Given the description of an element on the screen output the (x, y) to click on. 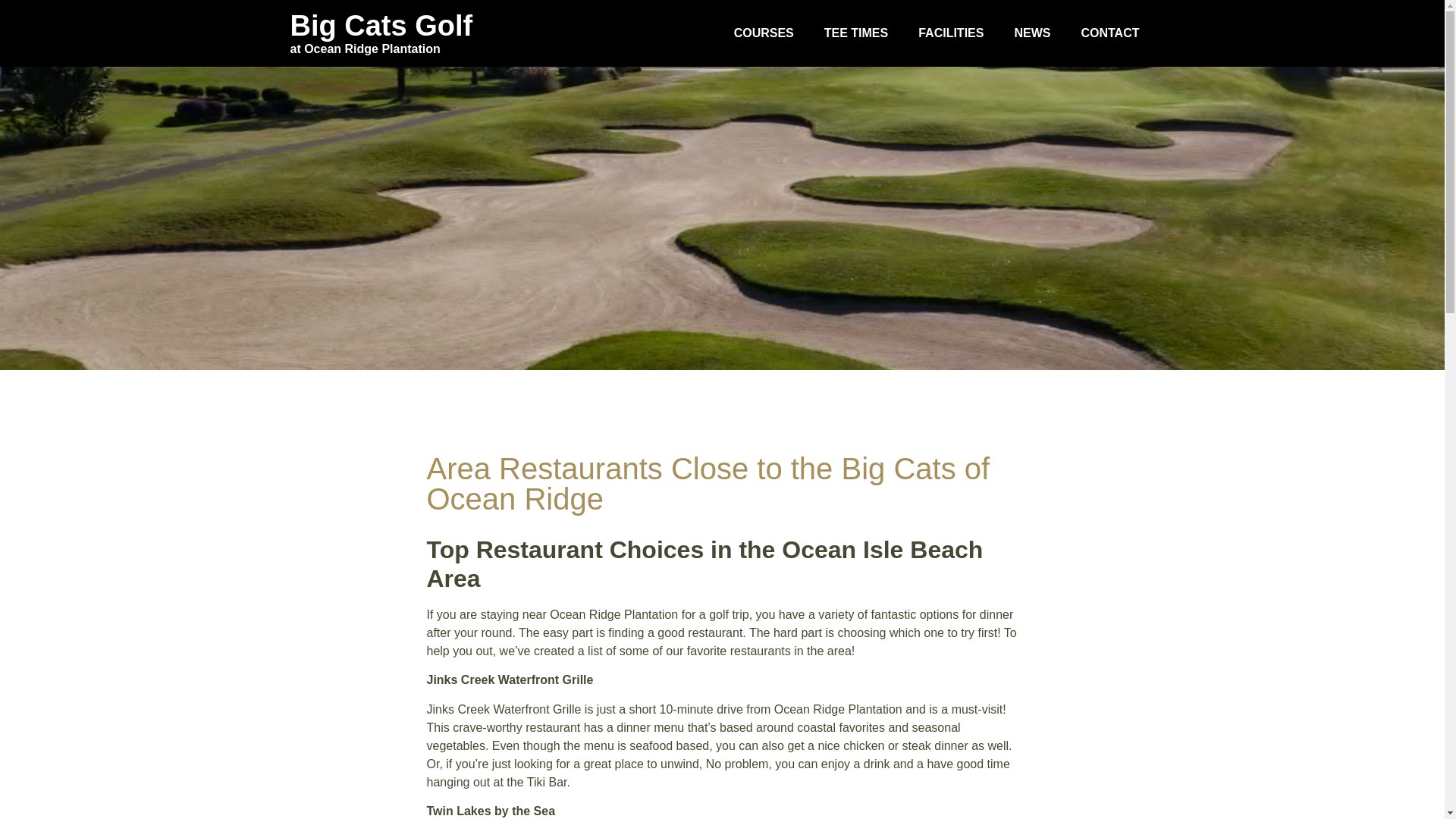
NEWS (1031, 32)
FACILITIES (950, 32)
Big Cats Golf (380, 25)
at Ocean Ridge Plantation (364, 48)
CONTACT (1109, 32)
TEE TIMES (855, 32)
COURSES (764, 32)
